Given the description of an element on the screen output the (x, y) to click on. 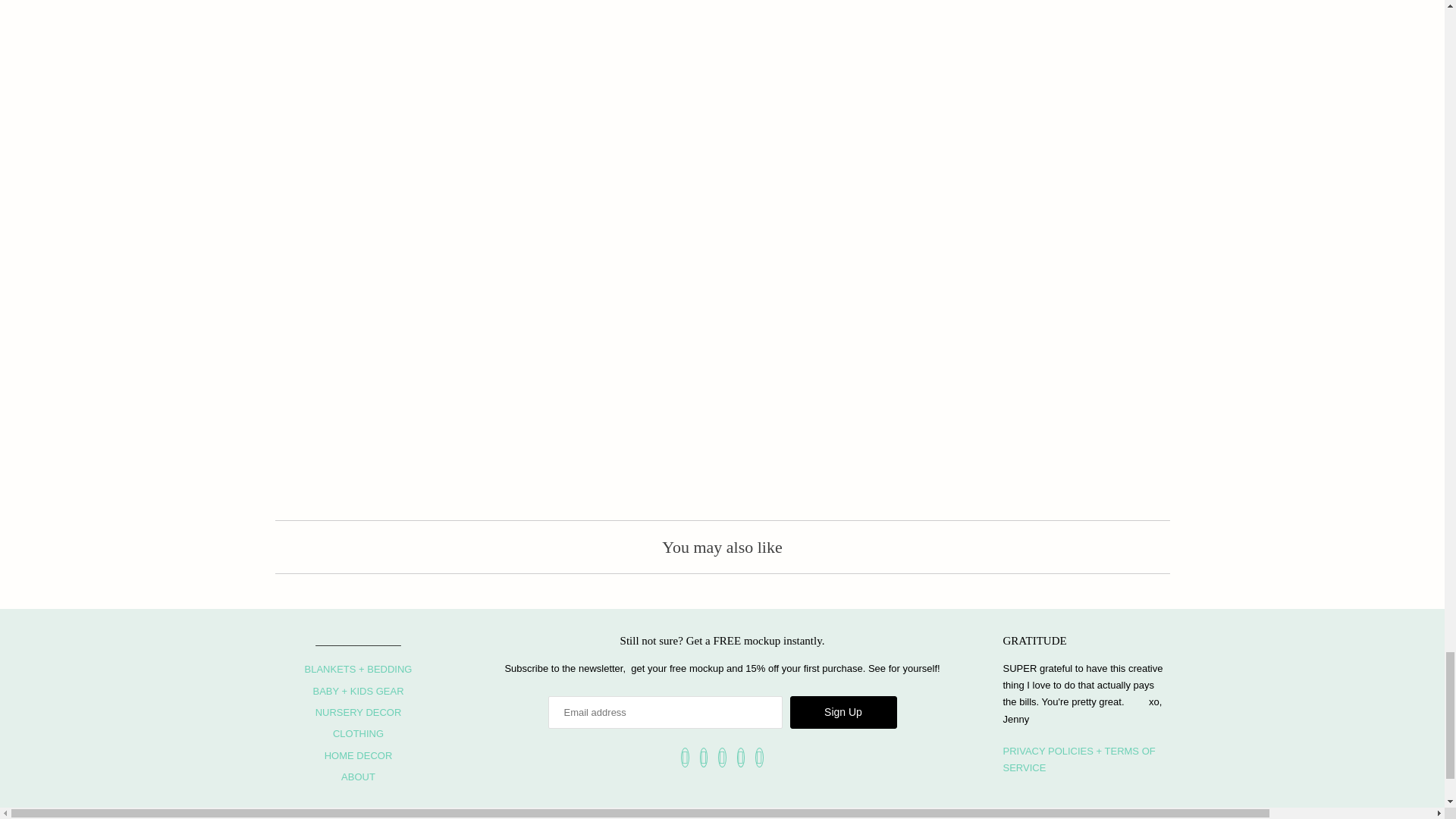
Email JENLYNN Stock Shop (758, 757)
JENLYNN Stock Shop on Pinterest (721, 757)
JENLYNN Stock Shop on Instagram (740, 757)
JENLYNN Stock Shop on Facebook (684, 757)
JENLYNN Stock Shop on YouTube (703, 757)
FAQ (1078, 759)
Sign Up (843, 712)
